Given the description of an element on the screen output the (x, y) to click on. 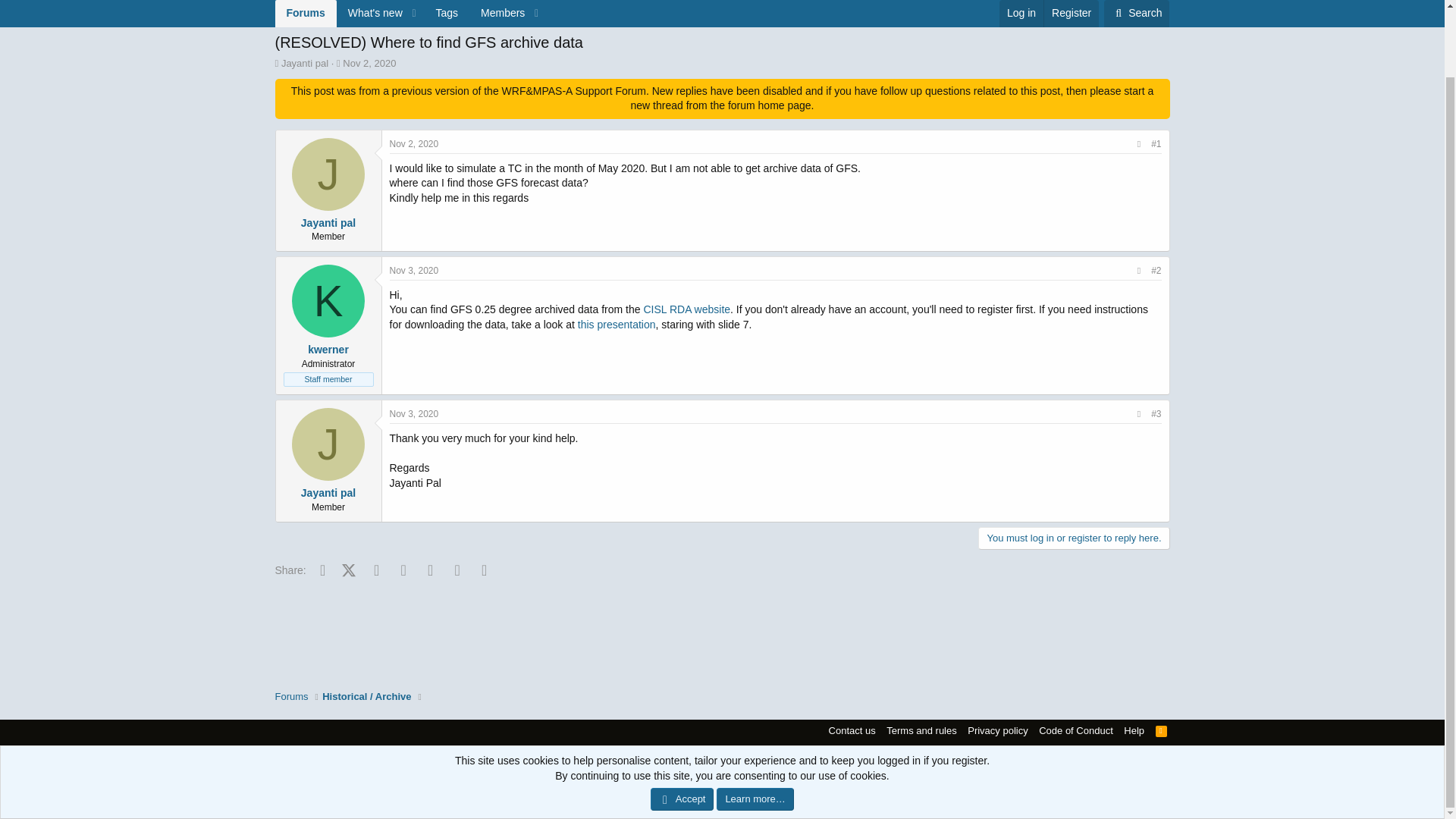
New posts (296, 2)
Nov 2, 2020 (369, 62)
Jayanti pal (369, 62)
Nov 3, 2020 at 11:12 PM (328, 223)
Nov 2, 2020 at 11:37 PM (414, 413)
Search forums (414, 143)
Forums (364, 2)
RSS (291, 20)
Nov 2, 2020 (1161, 730)
J (414, 143)
Nov 3, 2020 at 1:52 PM (328, 174)
Jayanti pal (414, 270)
